Given the description of an element on the screen output the (x, y) to click on. 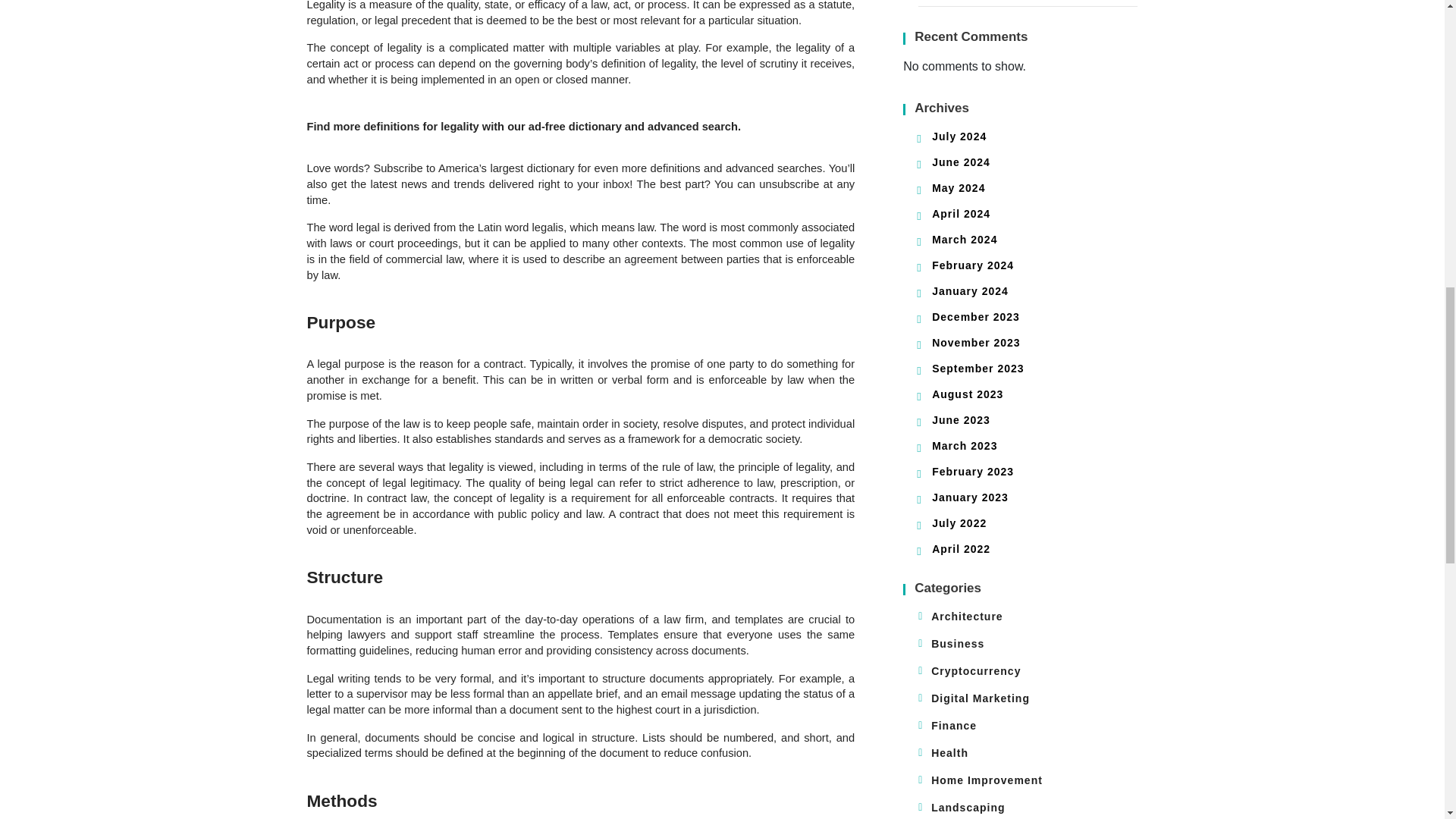
May 2024 (958, 187)
February 2024 (972, 265)
March 2024 (964, 239)
April 2024 (960, 214)
June 2024 (960, 162)
November 2023 (975, 342)
January 2024 (970, 291)
July 2024 (959, 136)
August 2023 (967, 394)
December 2023 (975, 316)
September 2023 (977, 368)
